Given the description of an element on the screen output the (x, y) to click on. 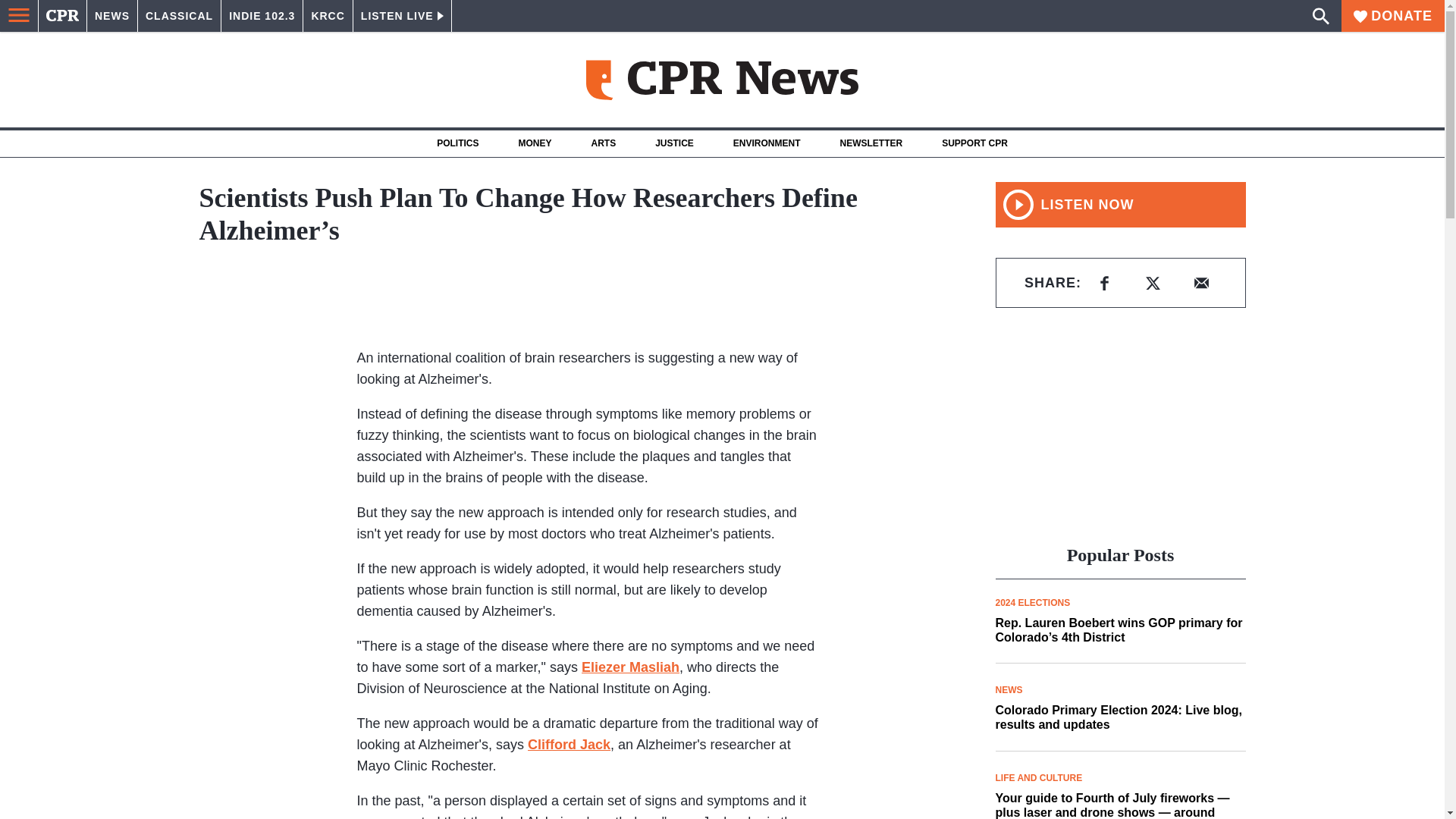
LISTEN LIVE (402, 15)
INDIE 102.3 (261, 15)
CLASSICAL (179, 15)
NEWS (111, 15)
KRCC (327, 15)
